Given the description of an element on the screen output the (x, y) to click on. 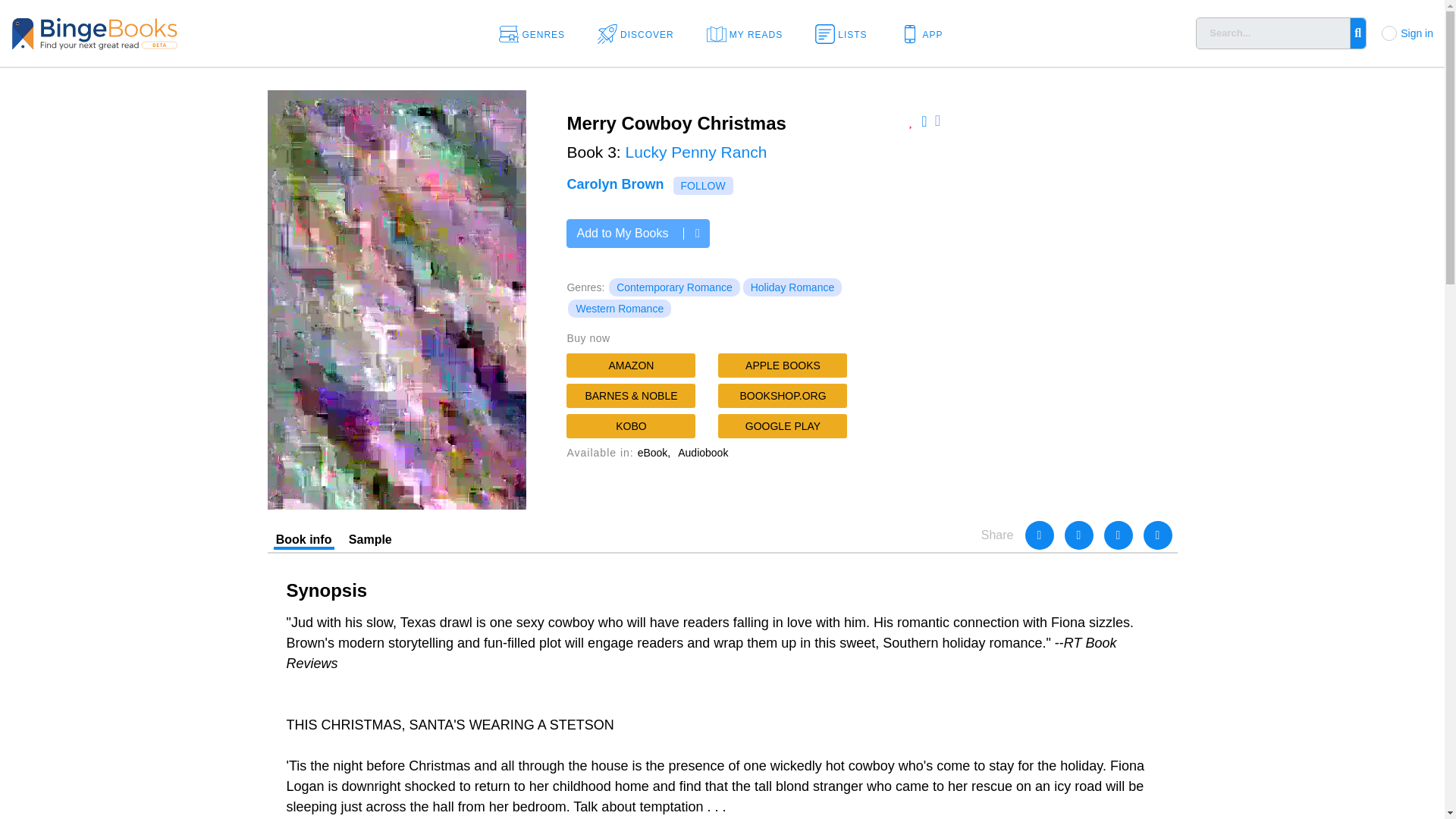
Lucky Penny Ranch (696, 151)
Find your next great read (144, 32)
GENRES (537, 33)
LISTS (845, 33)
APPLE BOOKS (782, 364)
Western Romance (619, 308)
MY READS (749, 33)
FOLLOW (702, 185)
AMAZON (630, 364)
Genres (537, 33)
